Given the description of an element on the screen output the (x, y) to click on. 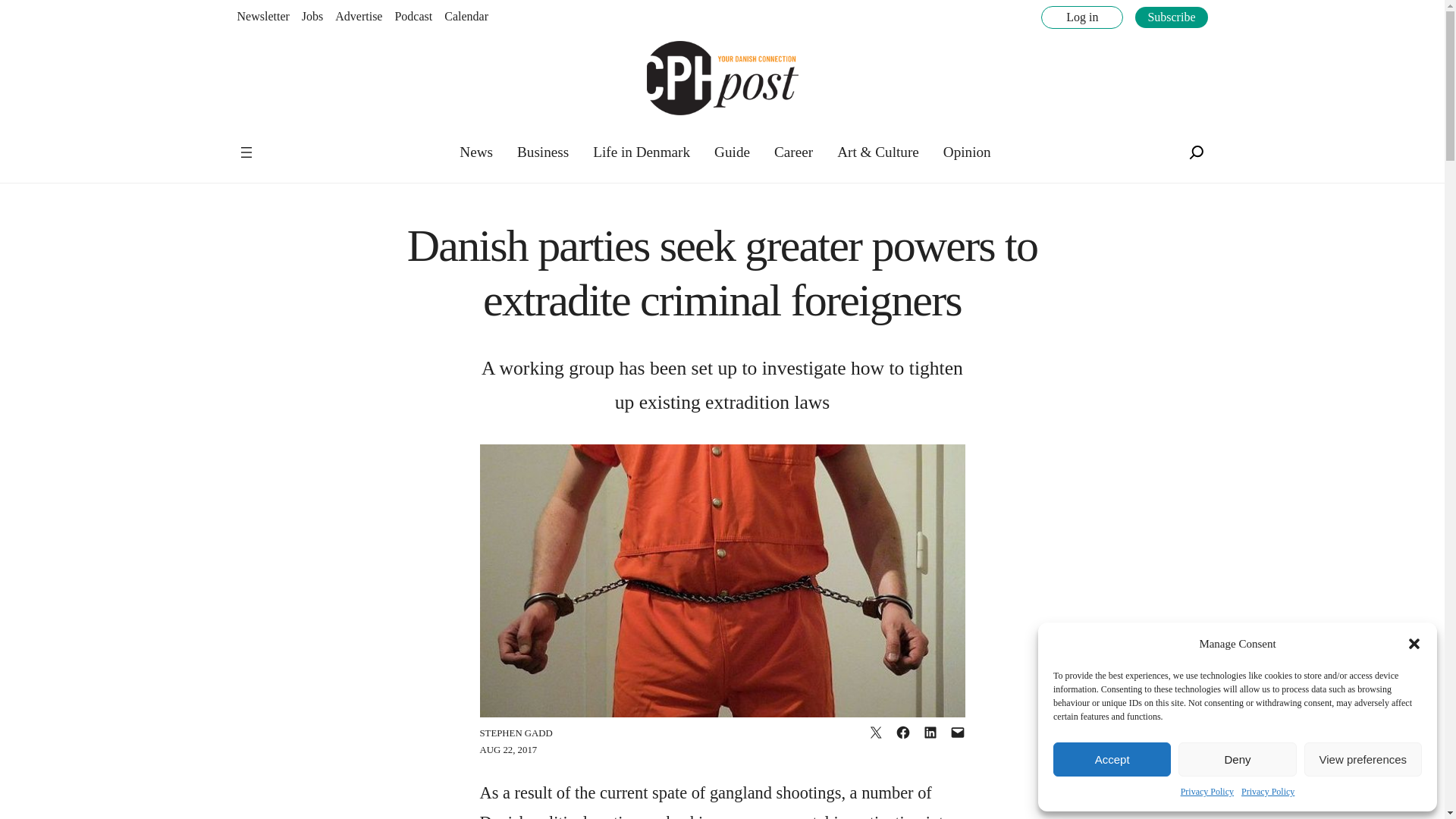
Accept (1111, 759)
The Copenhagen Post (284, 143)
Privacy Policy (1267, 791)
View preferences (1363, 759)
Privacy Policy (1206, 791)
Deny (1236, 759)
